Given the description of an element on the screen output the (x, y) to click on. 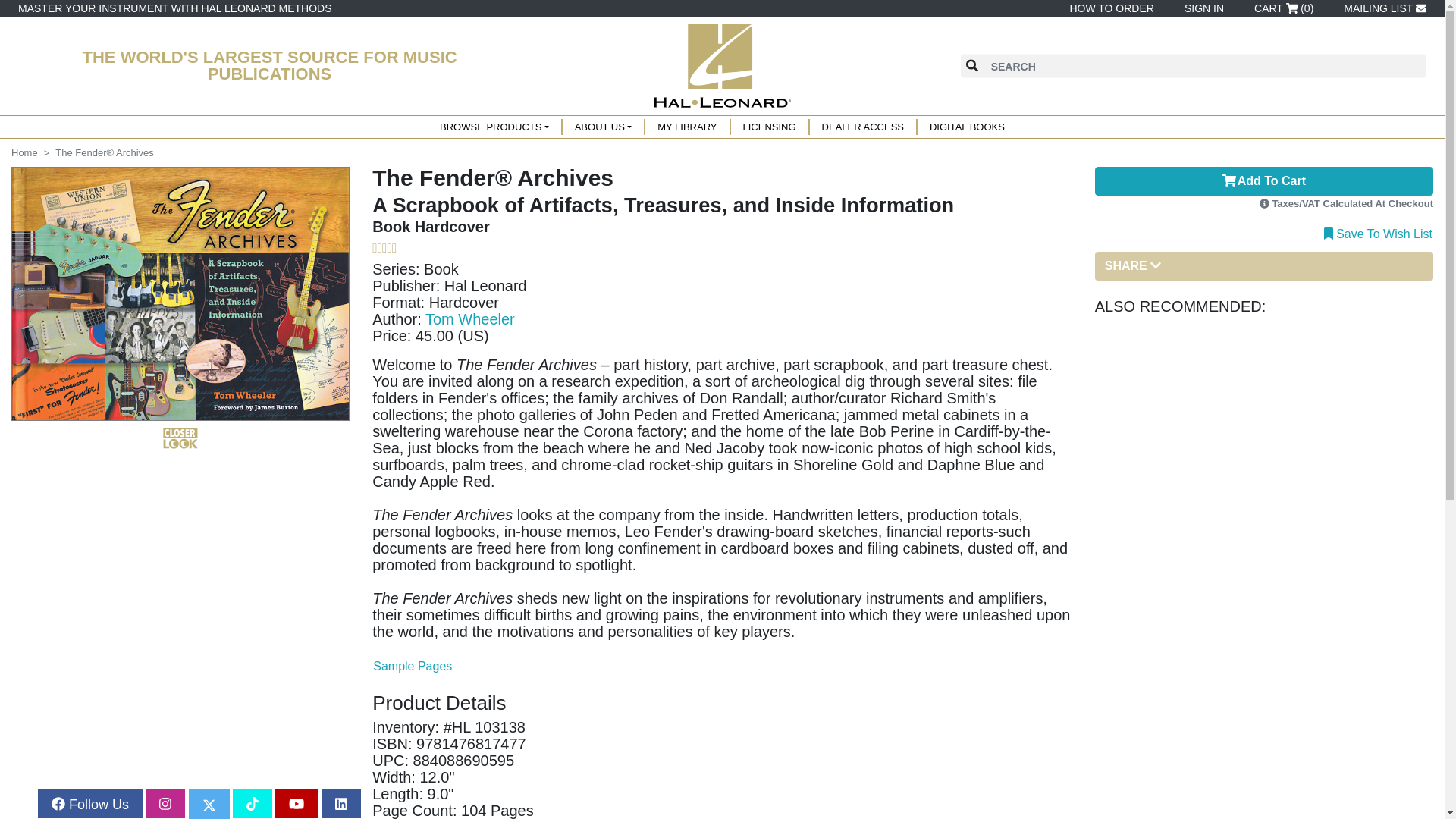
Closer Look (180, 437)
MAILING LIST (1382, 8)
Add to Cart (1263, 181)
MASTER YOUR INSTRUMENT WITH HAL LEONARD METHODS (174, 8)
Add to Wish List (1377, 232)
HOW TO ORDER (1108, 8)
SIGN IN (1200, 8)
